Given the description of an element on the screen output the (x, y) to click on. 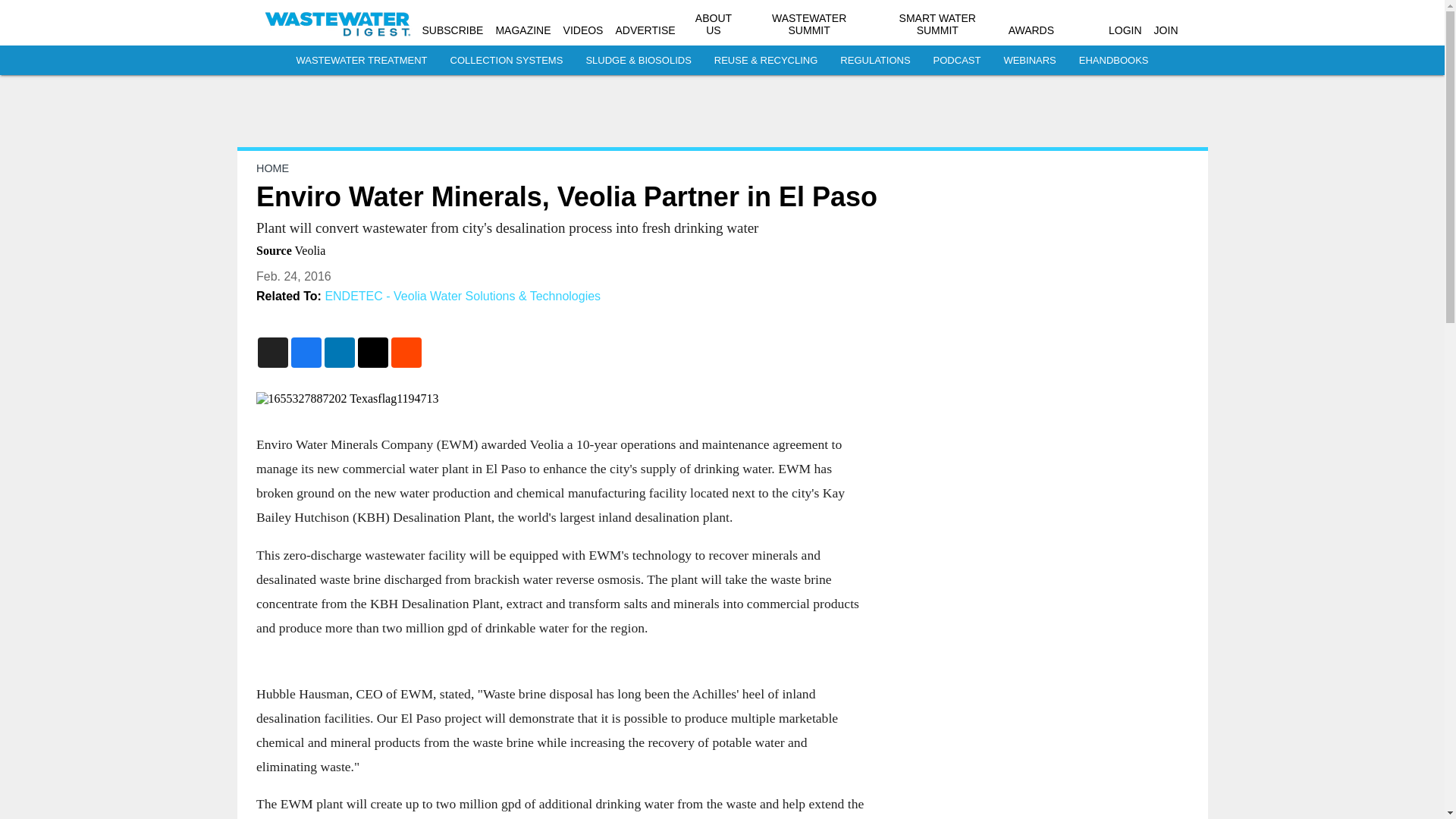
JOIN (1165, 30)
WASTEWATER TREATMENT (360, 60)
WEBINARS (1029, 60)
PODCAST (957, 60)
1655327887202 Texasflag1194713 (560, 398)
COLLECTION SYSTEMS (506, 60)
SMART WATER SUMMIT (937, 24)
AWARDS (1031, 30)
LOGIN (1124, 30)
REGULATIONS (875, 60)
